Given the description of an element on the screen output the (x, y) to click on. 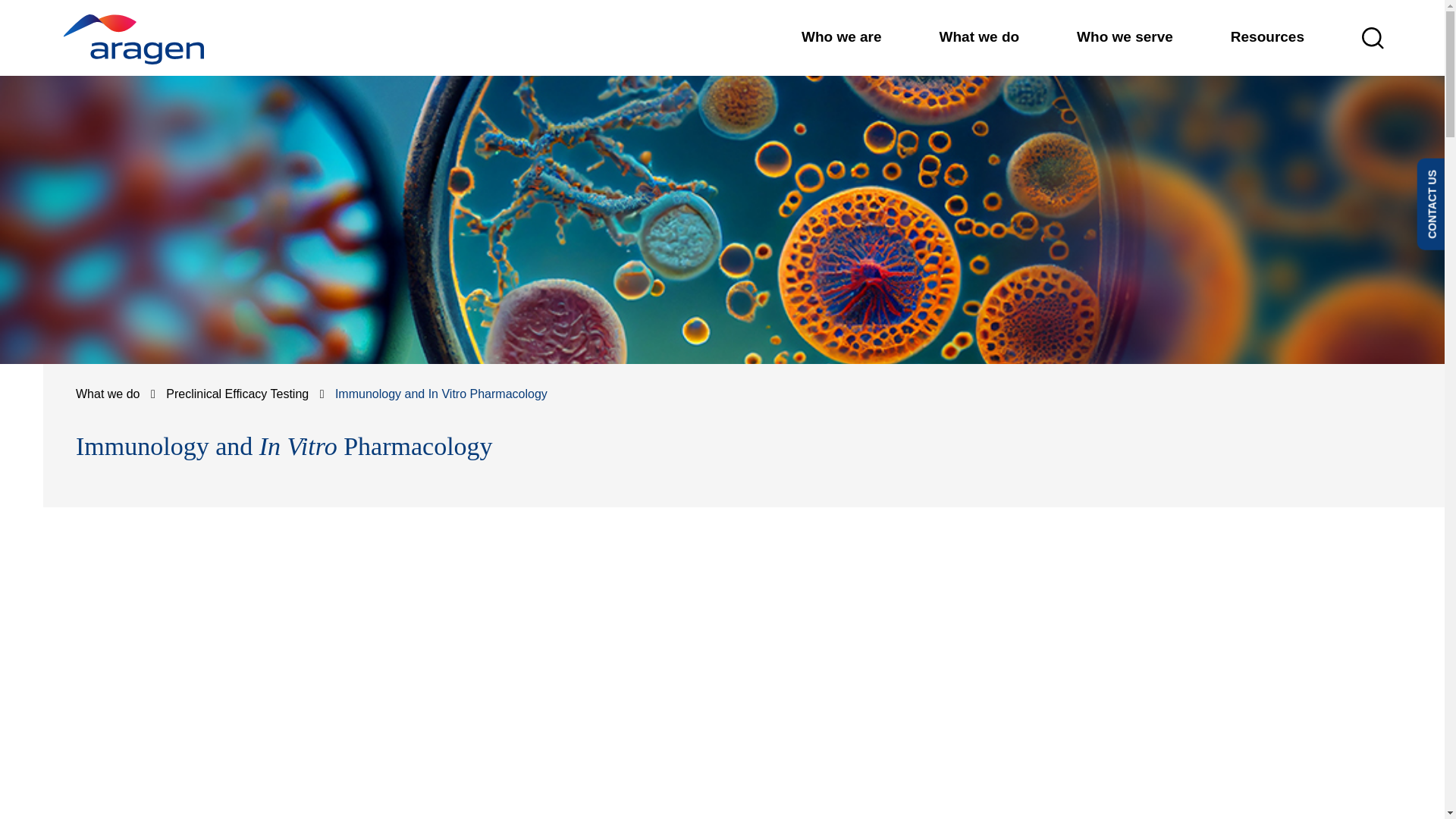
What we do (979, 36)
Who we are (842, 36)
Who we serve (1125, 36)
Resources (1267, 36)
